Given the description of an element on the screen output the (x, y) to click on. 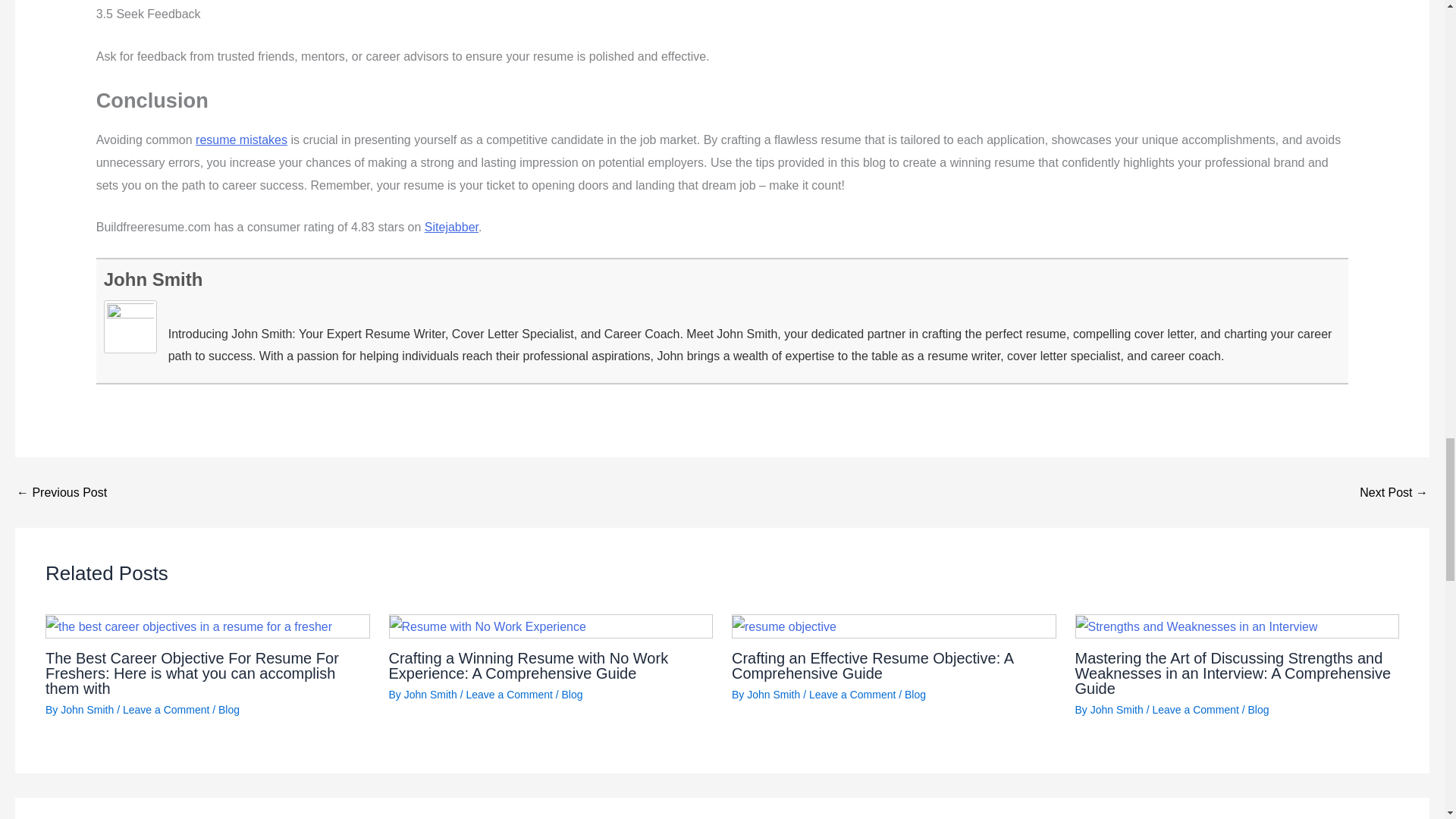
Career Objective With Examples (1393, 492)
View all posts by John Smith (1116, 709)
Two Weeks Notice Letter With Examples (61, 492)
View all posts by John Smith (430, 694)
View all posts by John Smith (87, 709)
View all posts by John Smith (772, 694)
All posts by John Smith (153, 279)
